Given the description of an element on the screen output the (x, y) to click on. 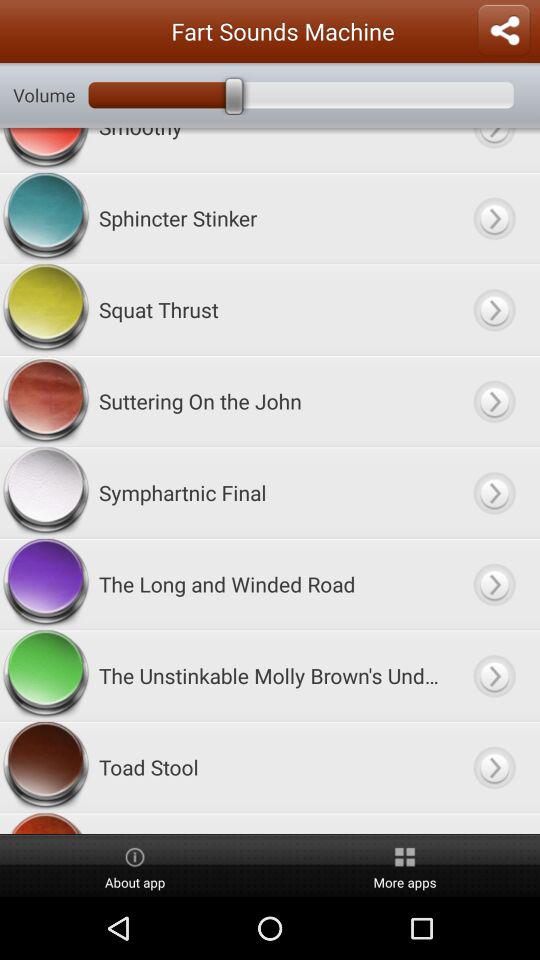
click the icon below tonya farting item (405, 866)
